Given the description of an element on the screen output the (x, y) to click on. 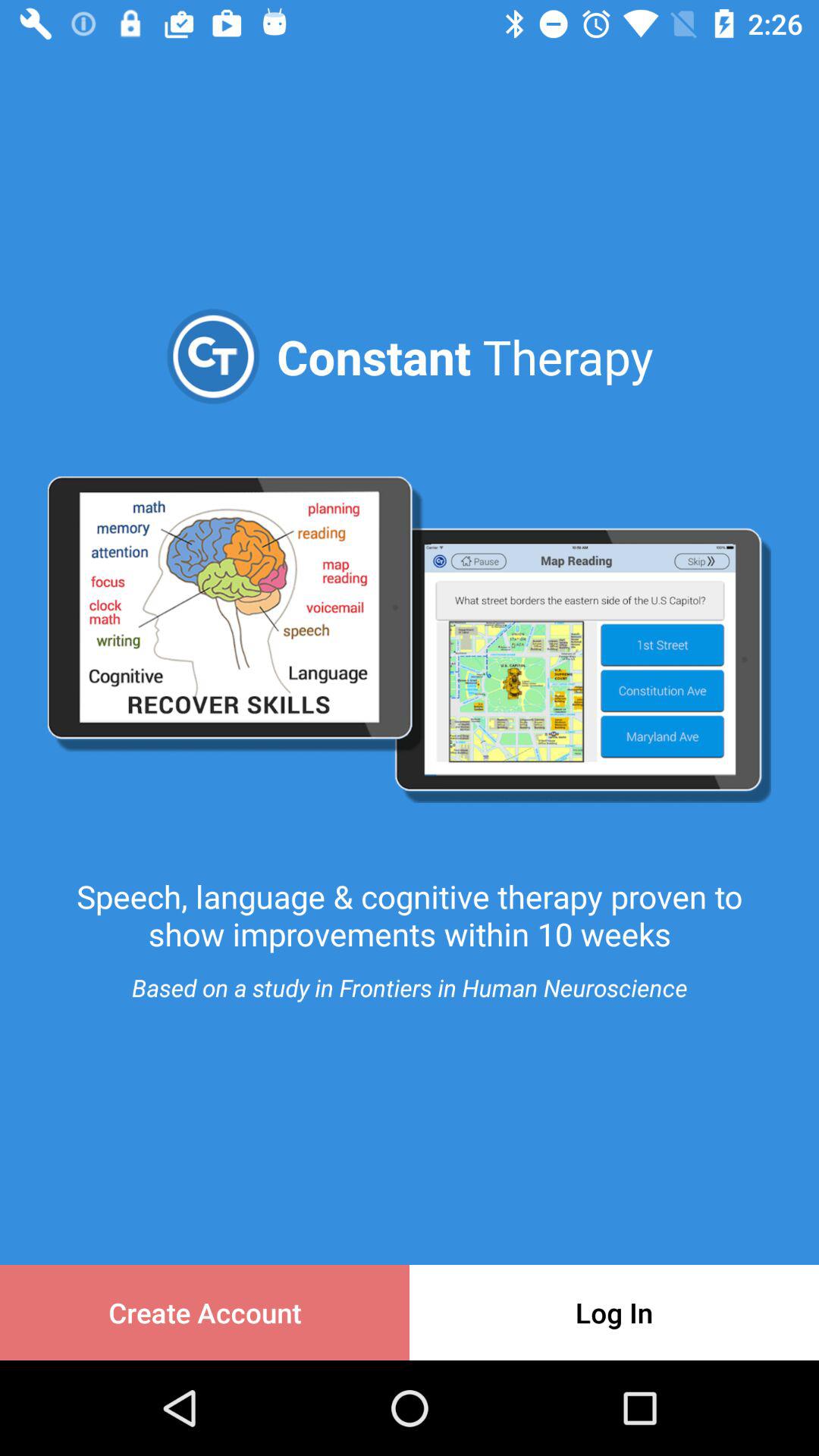
turn off icon below based on a icon (614, 1312)
